Given the description of an element on the screen output the (x, y) to click on. 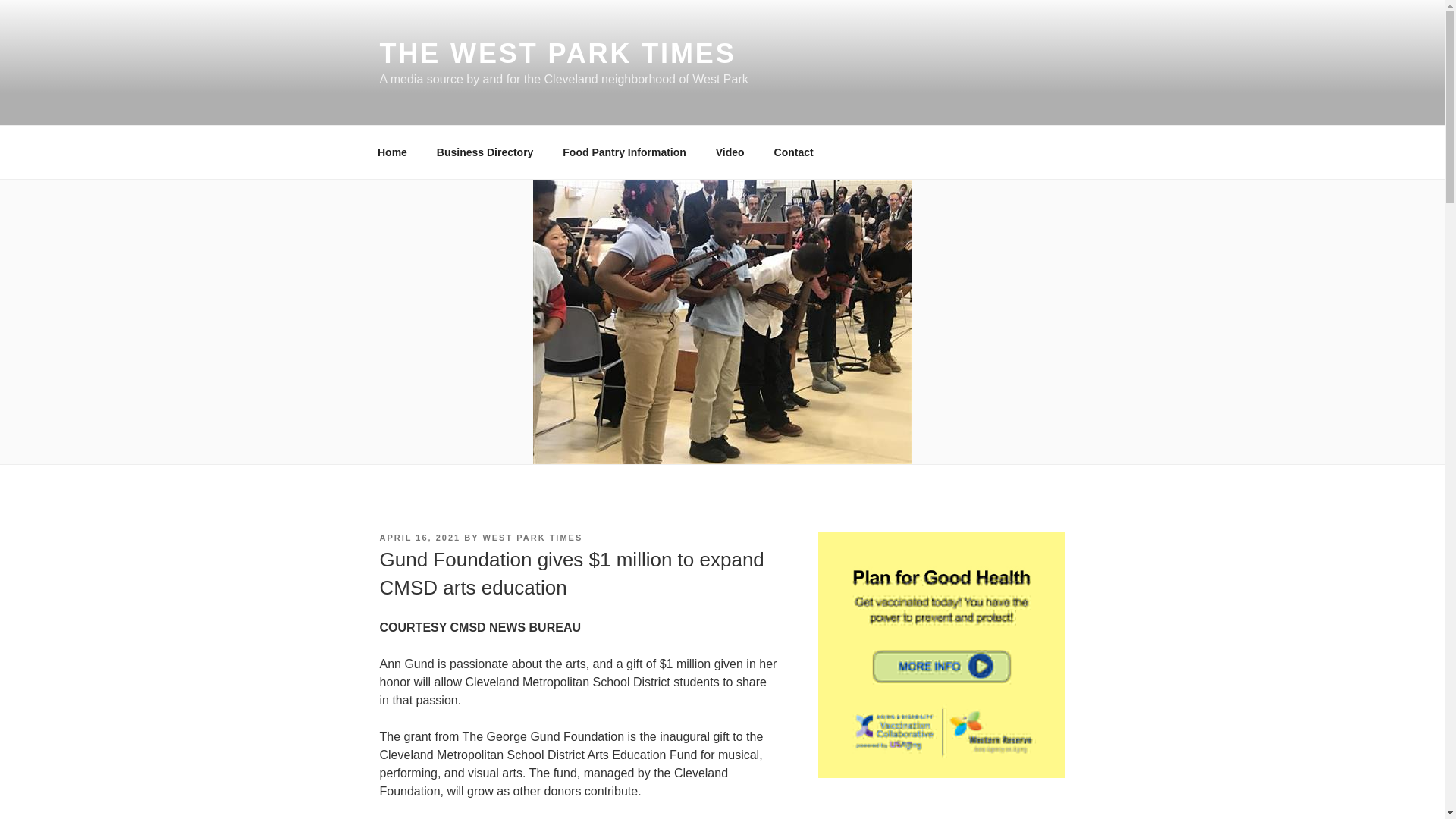
WEST PARK TIMES (531, 537)
Contact (793, 151)
Food Pantry Information (625, 151)
Business Directory (485, 151)
Home (392, 151)
THE WEST PARK TIMES (556, 52)
Video (729, 151)
APRIL 16, 2021 (419, 537)
